Given the description of an element on the screen output the (x, y) to click on. 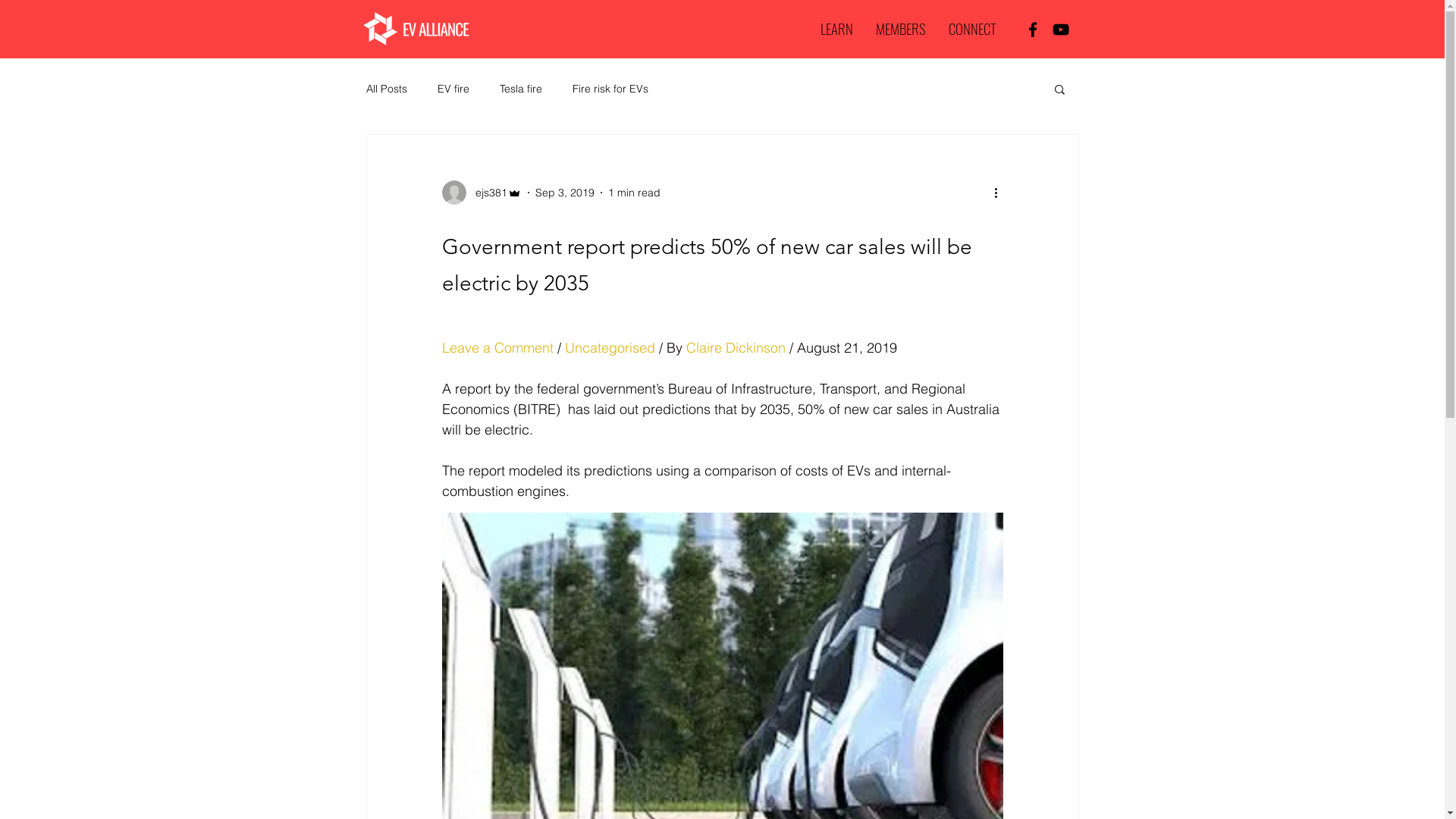
ejs381 Element type: text (480, 192)
Fire risk for EVs Element type: text (609, 88)
Tesla fire Element type: text (519, 88)
LEARN Element type: text (835, 25)
Leave a Comment Element type: text (496, 347)
EV fire Element type: text (452, 88)
MEMBERS Element type: text (900, 25)
All Posts Element type: text (385, 88)
CONNECT Element type: text (972, 25)
Claire Dickinson  Element type: text (736, 347)
Uncategorised Element type: text (609, 347)
